Given the description of an element on the screen output the (x, y) to click on. 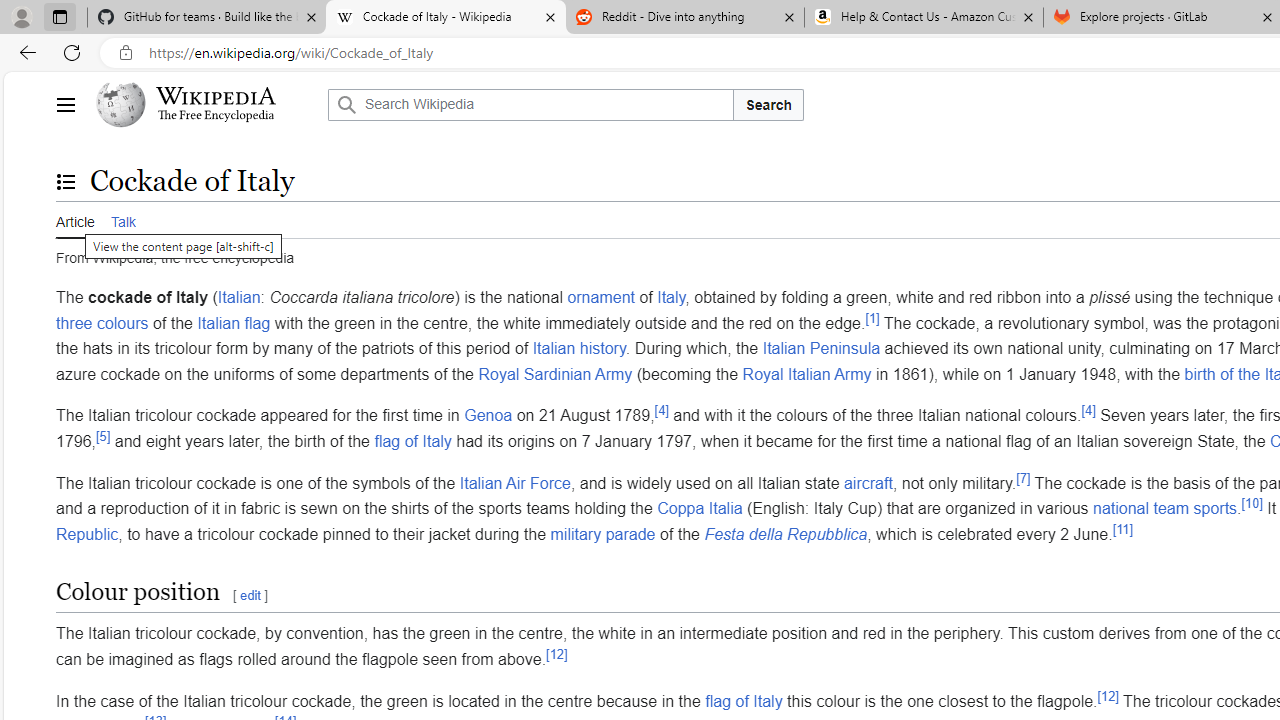
[10] (1252, 503)
